Given the description of an element on the screen output the (x, y) to click on. 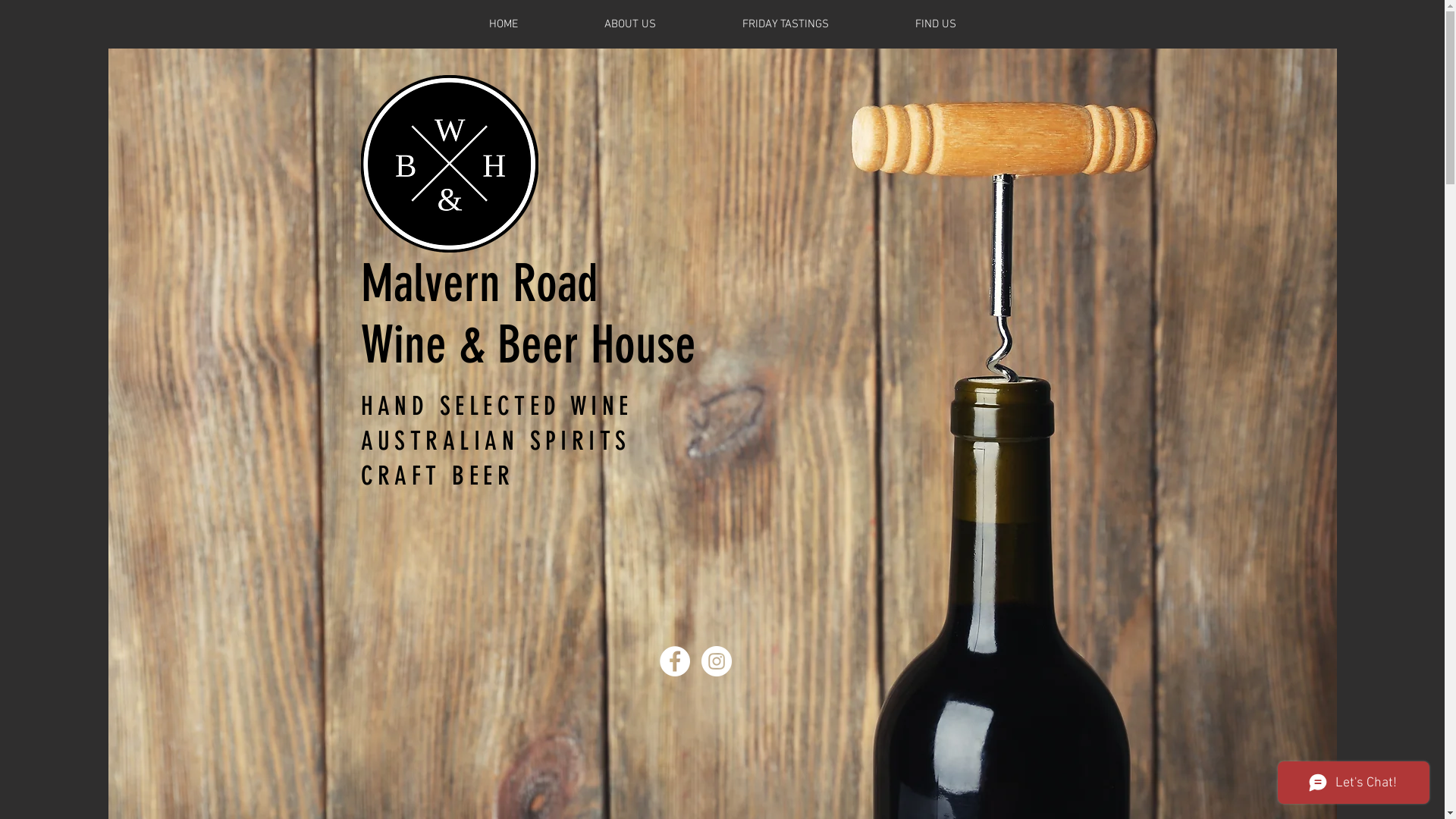
HOME Element type: text (503, 24)
Malvern Road Element type: text (479, 282)
Wine & Beer House Element type: text (528, 344)
NEW LOGO1.png Element type: hover (449, 163)
FIND US Element type: text (935, 24)
FRIDAY TASTINGS Element type: text (785, 24)
ABOUT US Element type: text (630, 24)
